Given the description of an element on the screen output the (x, y) to click on. 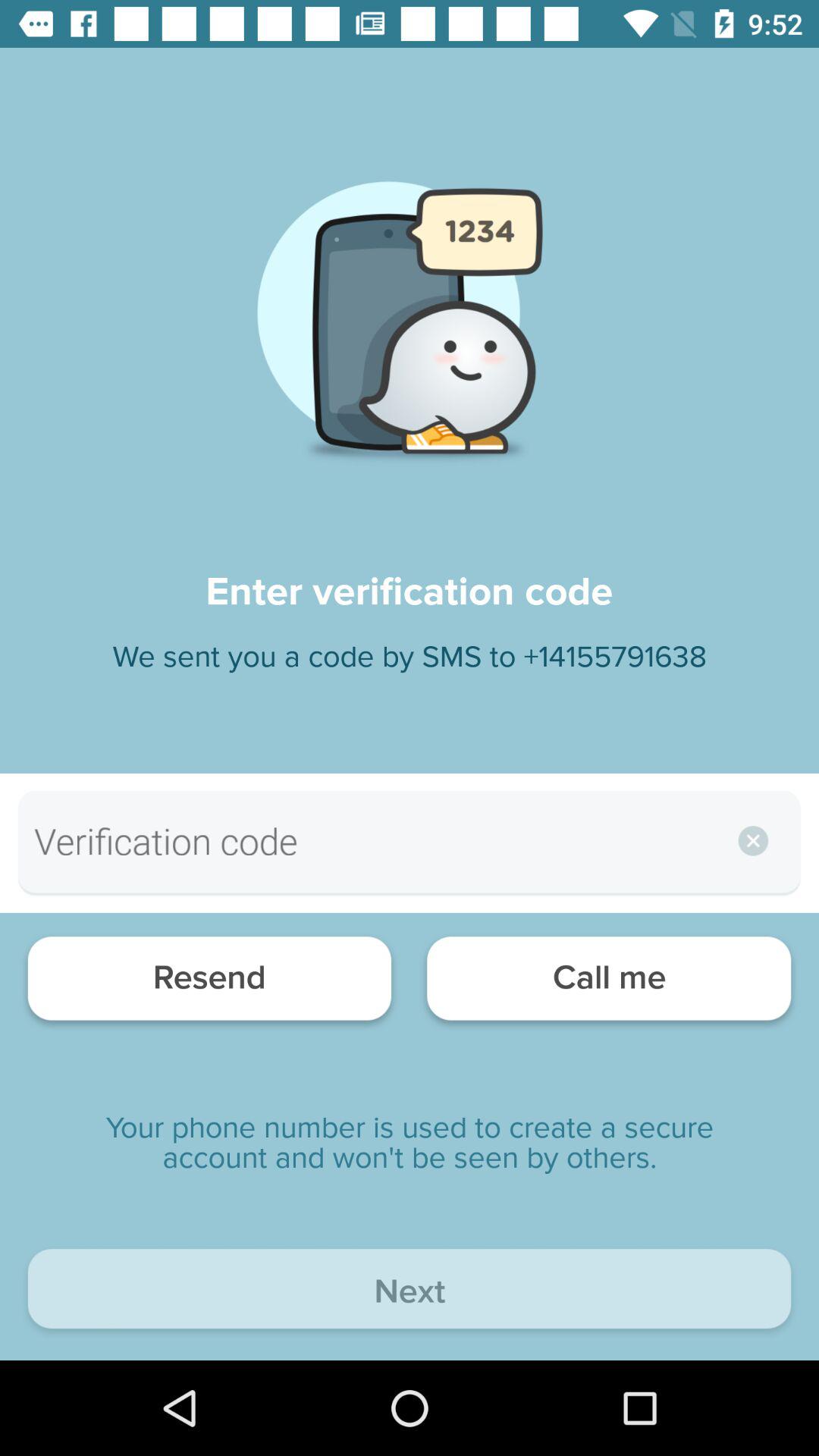
scroll to resend item (209, 982)
